Given the description of an element on the screen output the (x, y) to click on. 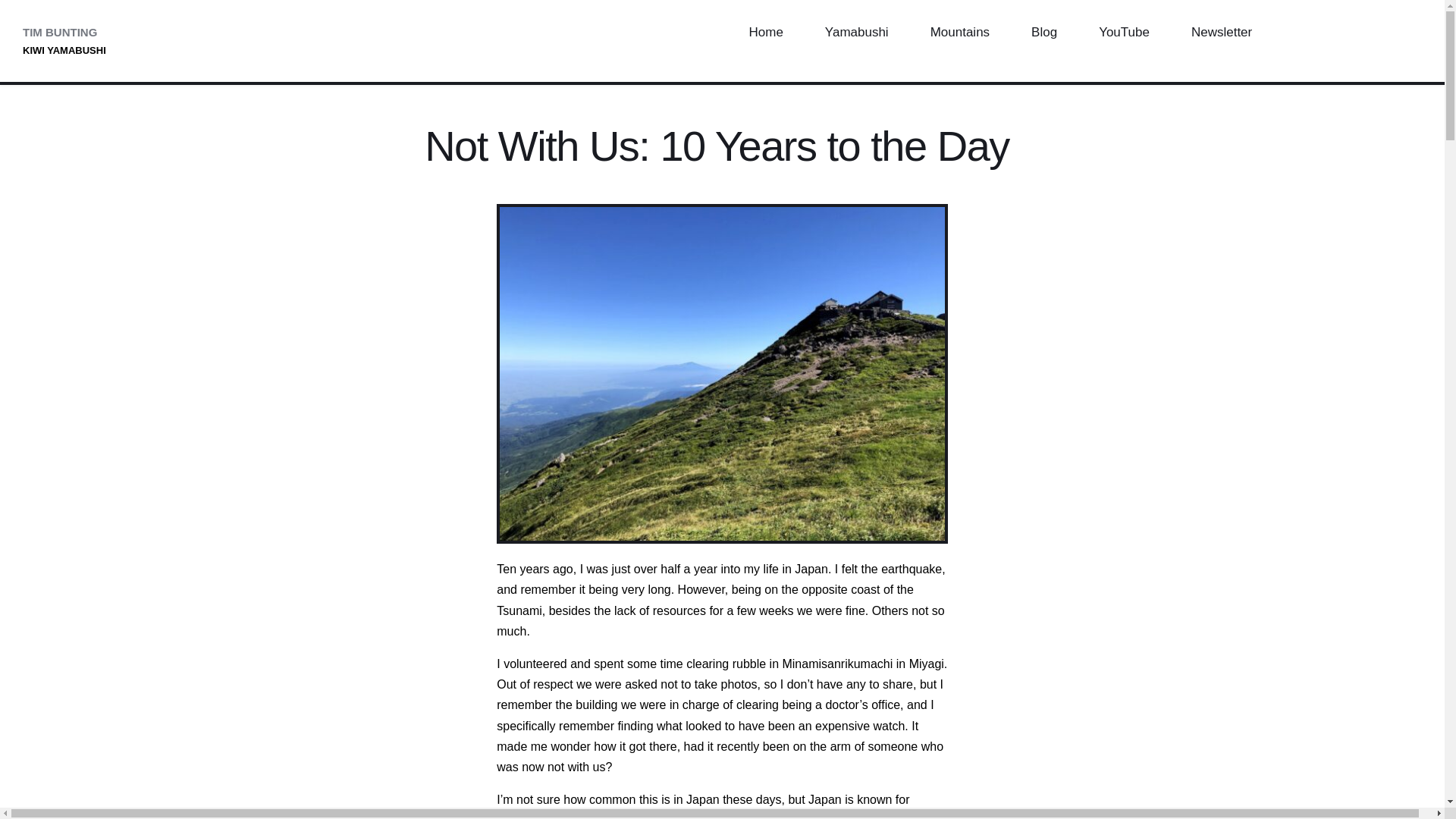
Home (765, 32)
Newsletter (1221, 32)
Blog (1044, 32)
YouTube (1123, 32)
Yamabushi (856, 32)
Mountains (959, 32)
